Given the description of an element on the screen output the (x, y) to click on. 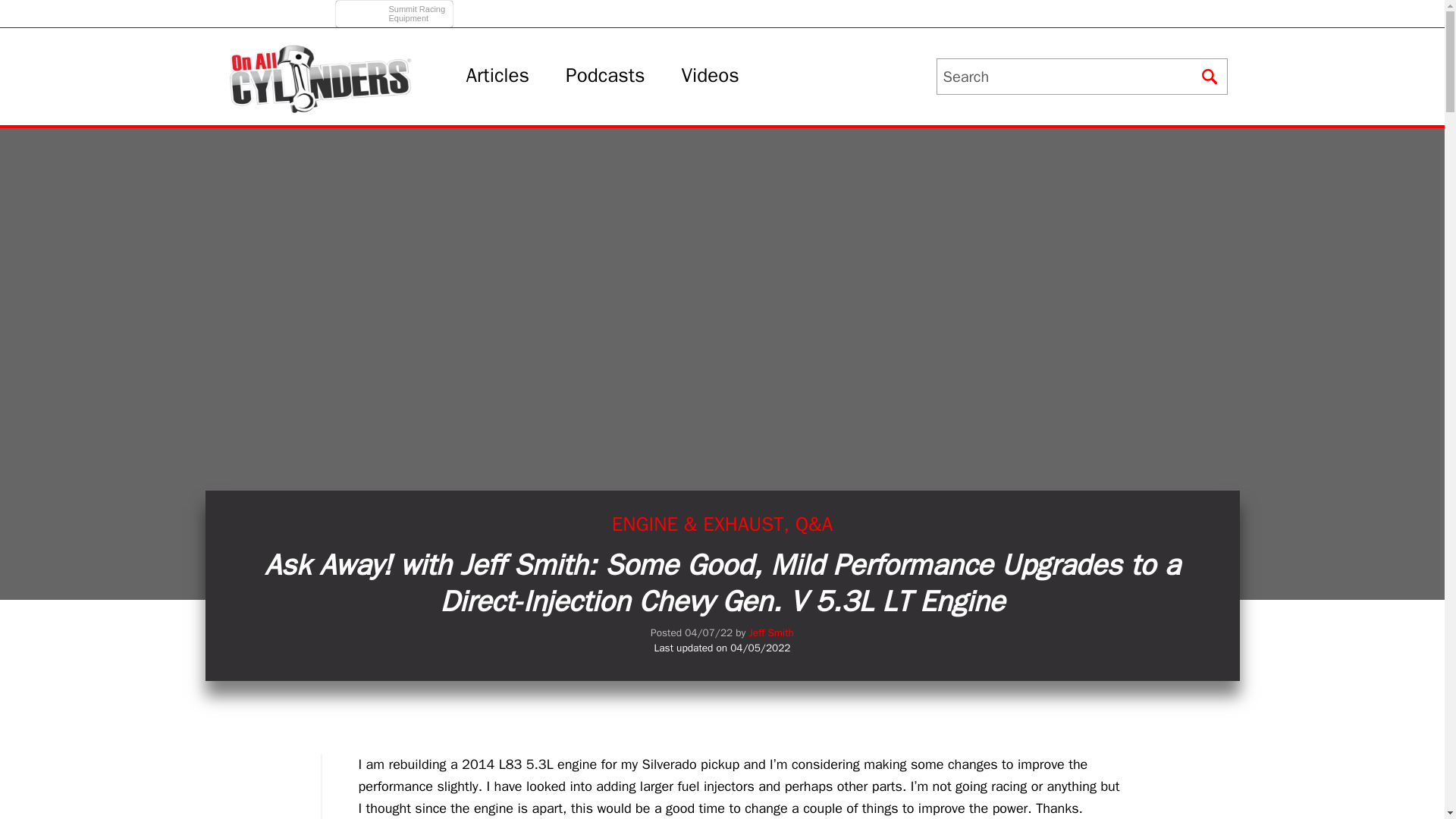
Podcasts (605, 76)
Videos (395, 9)
Articles (709, 76)
